Given the description of an element on the screen output the (x, y) to click on. 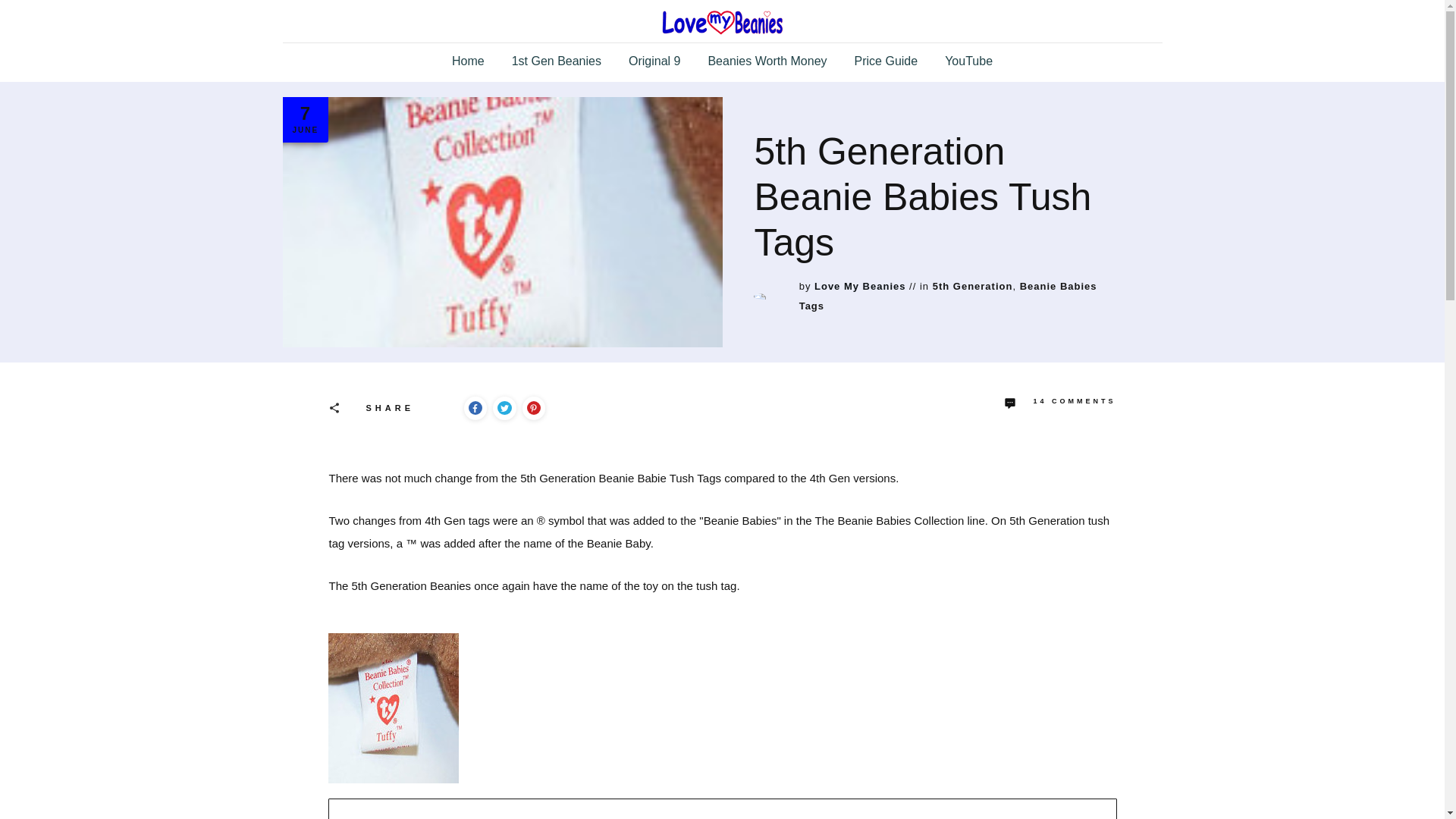
14 COMMENTS (1060, 402)
Beanie Babies Tags (948, 296)
YouTube (968, 61)
1st Gen Beanies (556, 61)
5th Generation (973, 285)
Love My Beanies (859, 285)
Beanie Babies Tags (948, 296)
Original 9 (653, 61)
Price Guide (886, 61)
Home (467, 61)
Beanies Worth Money (767, 61)
5th Generation (973, 285)
